Given the description of an element on the screen output the (x, y) to click on. 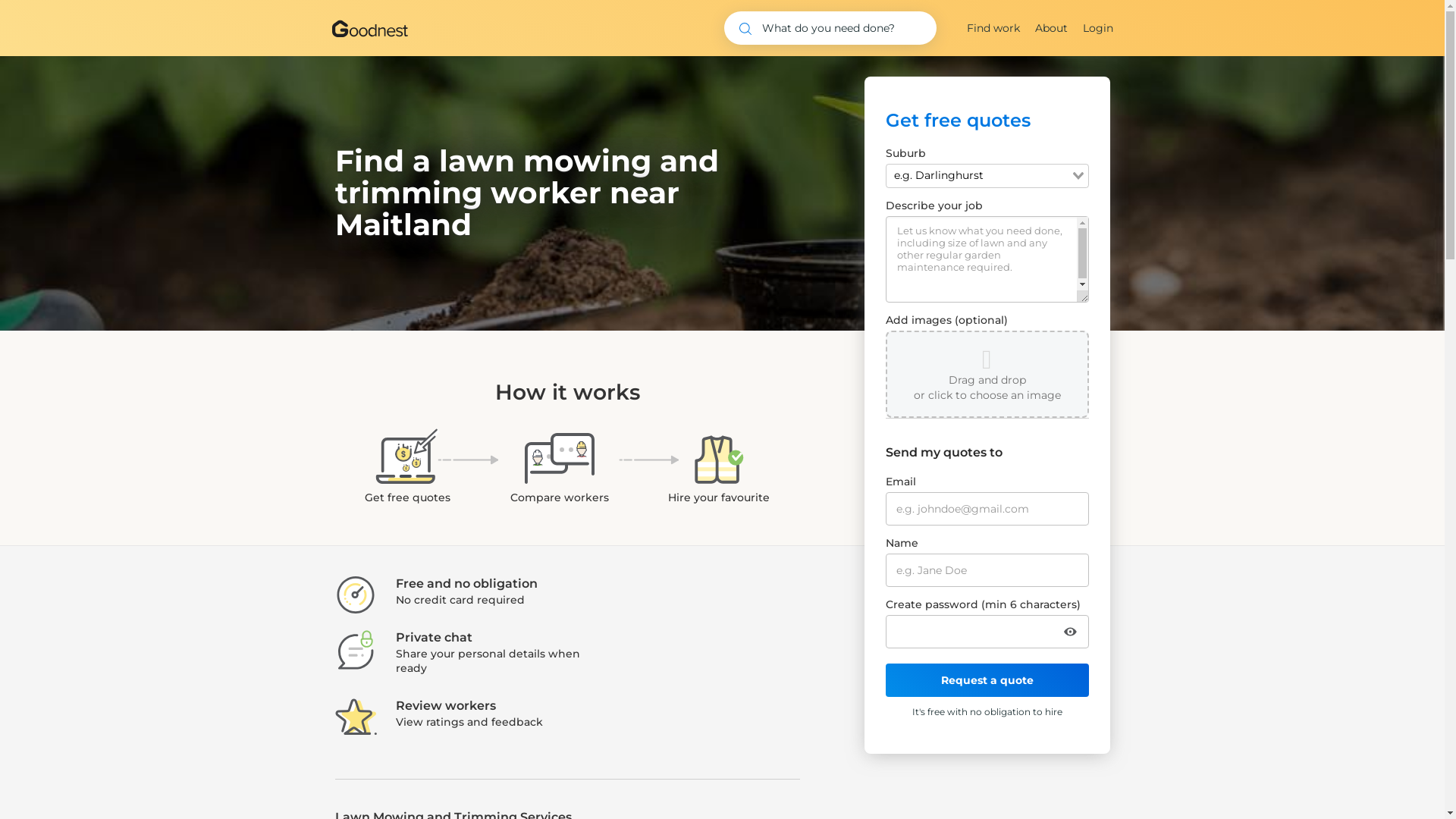
Request a quote Element type: text (986, 679)
About Element type: text (1050, 27)
Find work Element type: text (992, 27)
Login Element type: text (1097, 27)
Goodnest Logo Element type: hover (369, 28)
